Given the description of an element on the screen output the (x, y) to click on. 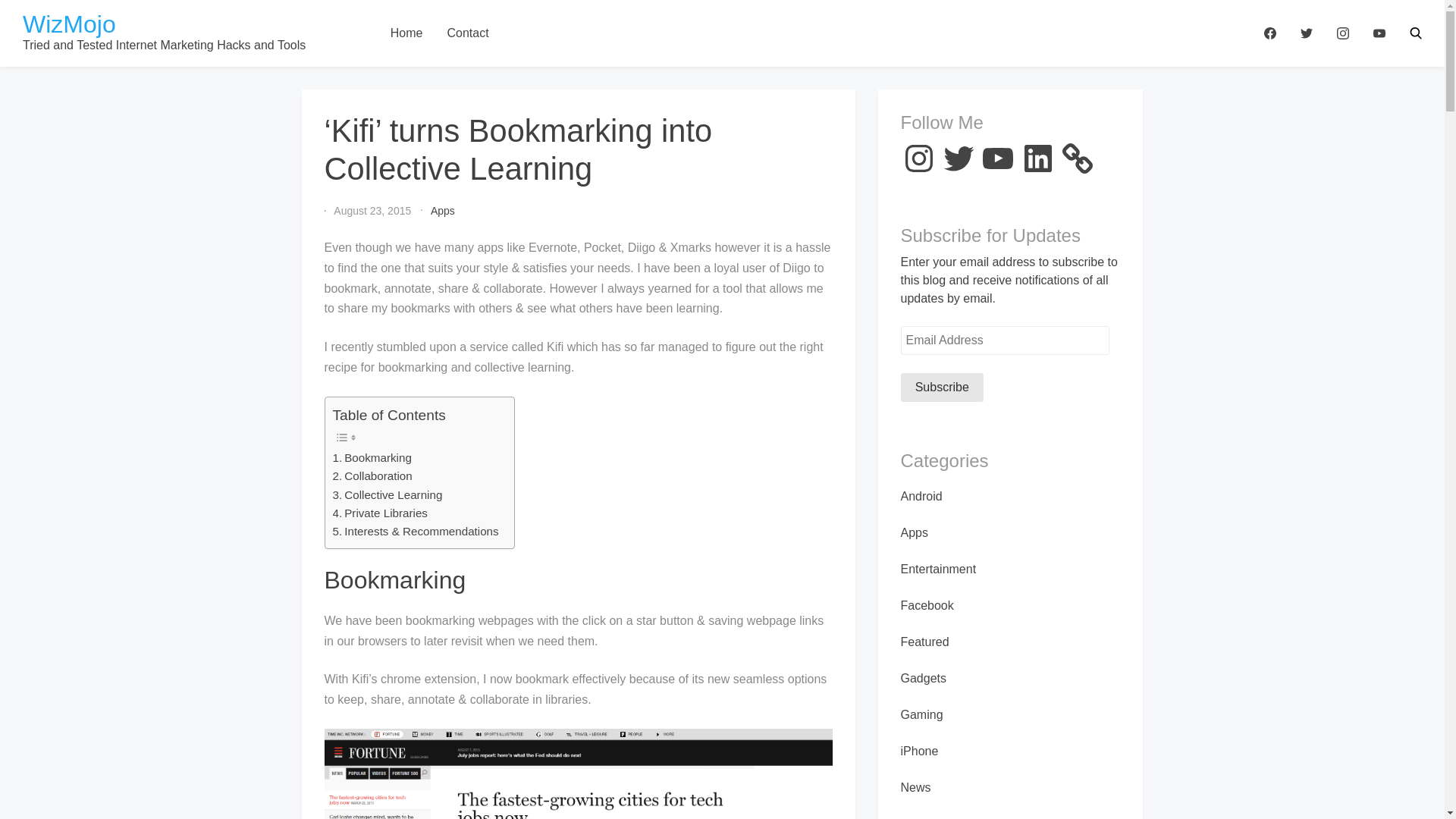
August 23, 2015 (371, 210)
WizMojo (69, 23)
Apps (442, 210)
Bookmarking (370, 457)
Private Libraries (378, 513)
Bookmarking (370, 457)
Collaboration (371, 475)
Home (406, 33)
Twitter (958, 158)
Private Libraries (378, 513)
Collaboration (371, 475)
YouTube (997, 158)
Contact (466, 33)
Instagram (919, 158)
Collective Learning (386, 495)
